Given the description of an element on the screen output the (x, y) to click on. 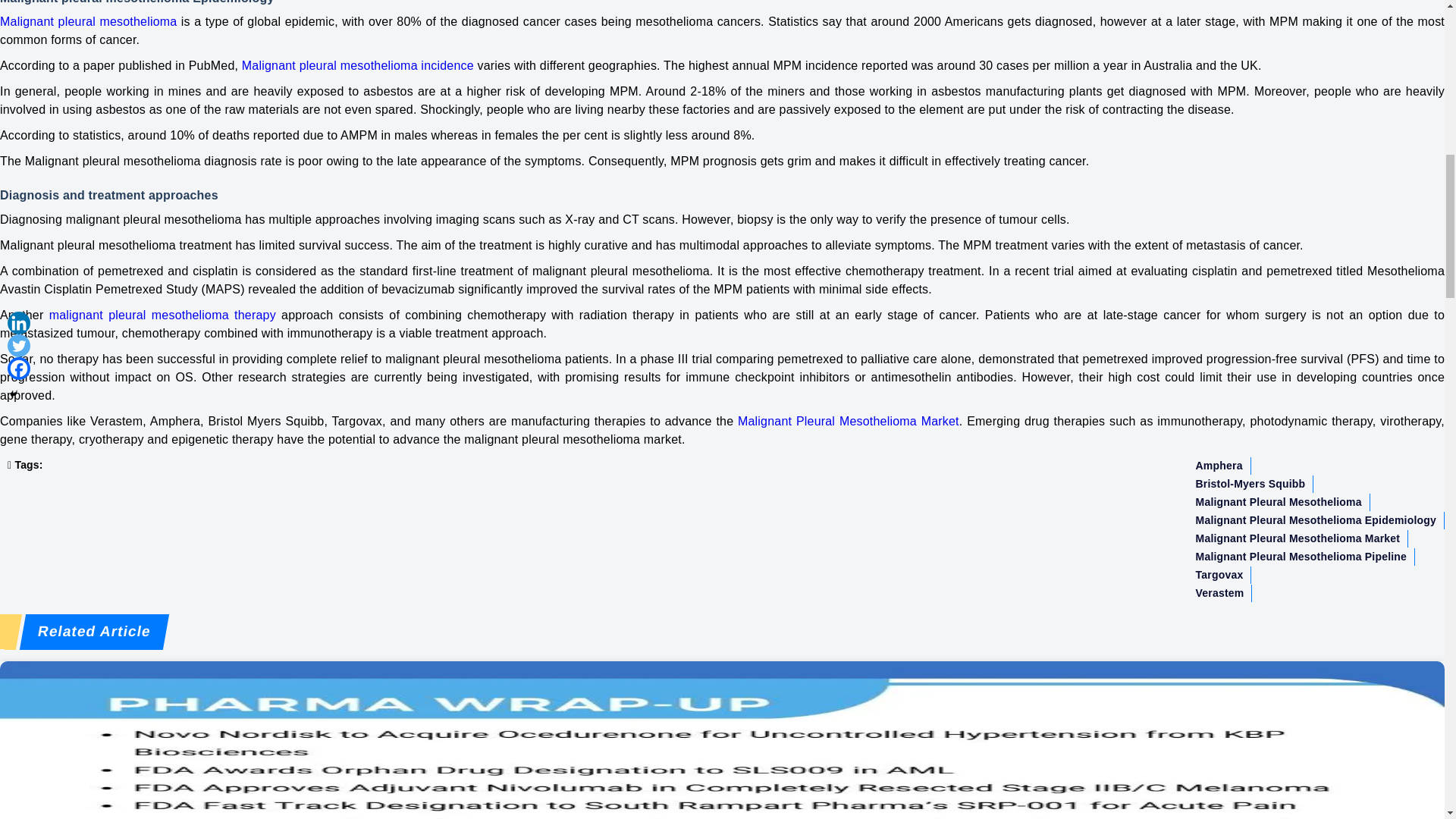
Bristol-Myers Squibb Tag (1250, 483)
Malignant pleural mesothelioma market Tag (1297, 538)
Verastem Tag (1220, 592)
malignant pleural mesothelioma Tag (1279, 501)
Amphera Tag (1219, 465)
Malignant pleural mesothelioma pipeline Tag (1301, 556)
Malignant pleural mesothelioma epidemiology Tag (1316, 519)
Targovax Tag (1219, 574)
